Given the description of an element on the screen output the (x, y) to click on. 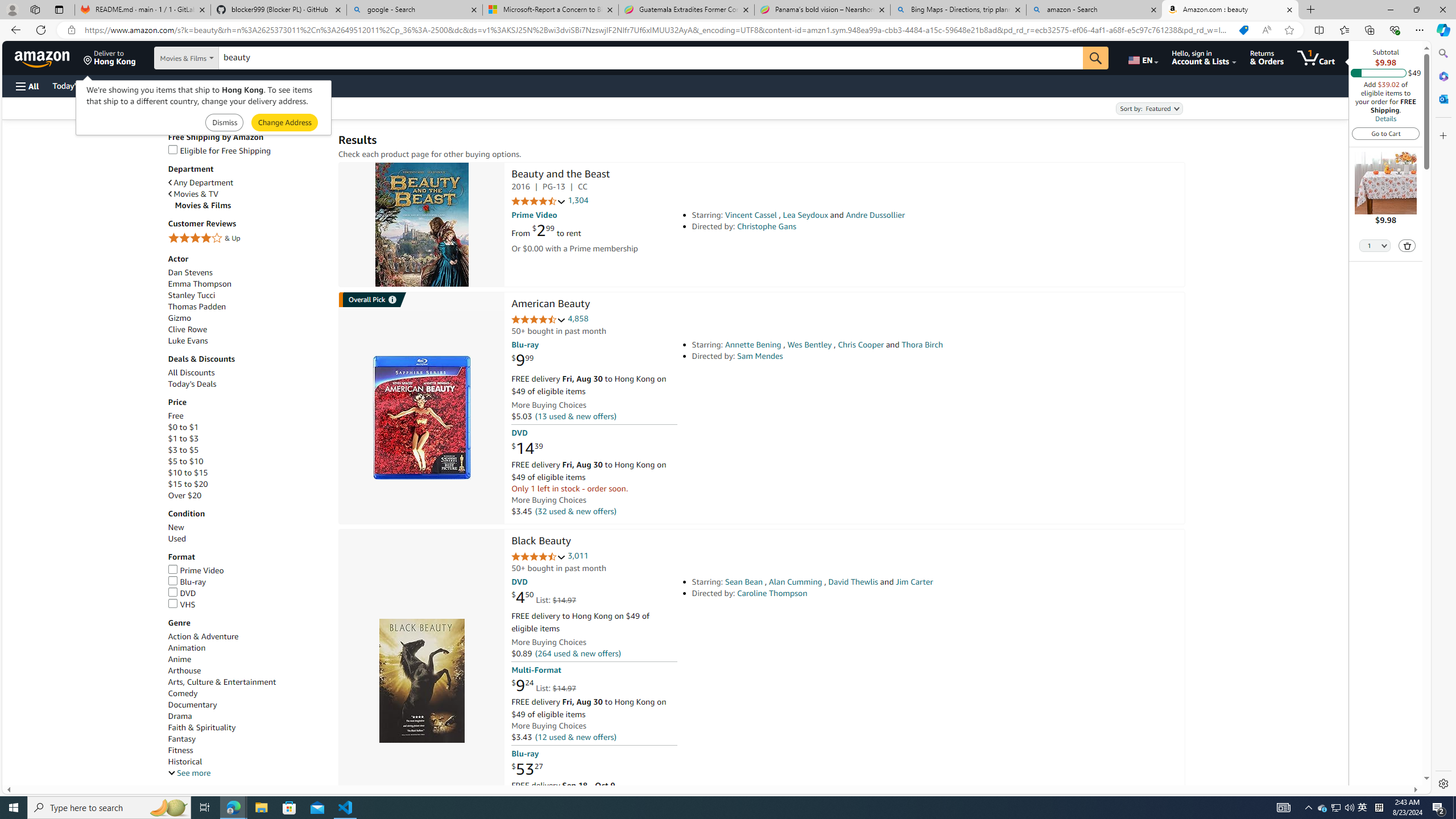
$4.50 List: $14.97 (543, 597)
$5 to $10 (185, 461)
$53.27 (527, 768)
Fitness (180, 750)
$9.99 (522, 360)
$9.24 List: $14.97 (543, 685)
Jim Carter (914, 581)
Arts, Culture & Entertainment (247, 682)
3,011 (577, 556)
Blu-ray (186, 581)
4.6 out of 5 stars (538, 319)
Deliver to Hong Kong (109, 57)
Caroline Thompson (772, 593)
